Given the description of an element on the screen output the (x, y) to click on. 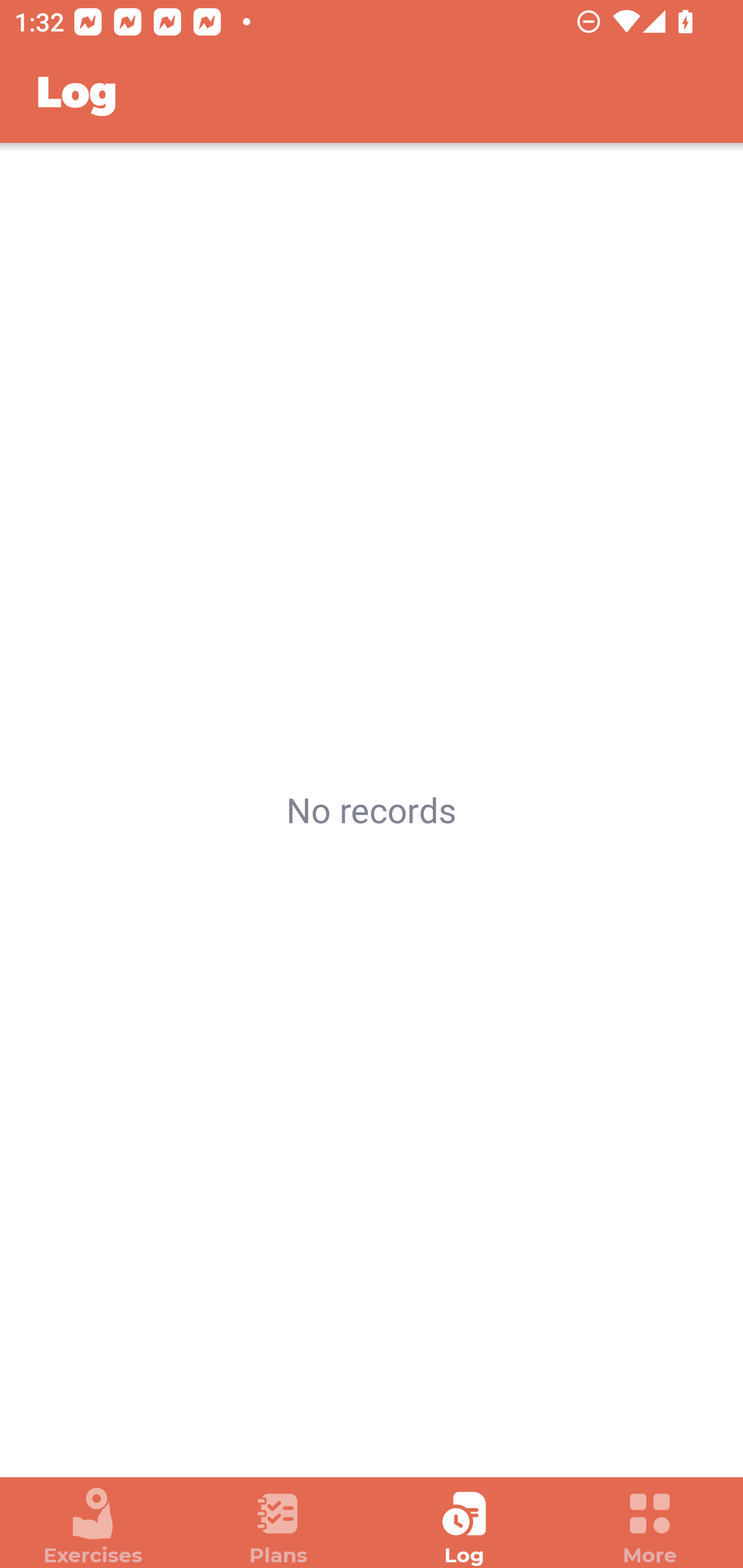
Exercises (92, 1527)
Plans (278, 1527)
Log (464, 1527)
More (650, 1527)
